Given the description of an element on the screen output the (x, y) to click on. 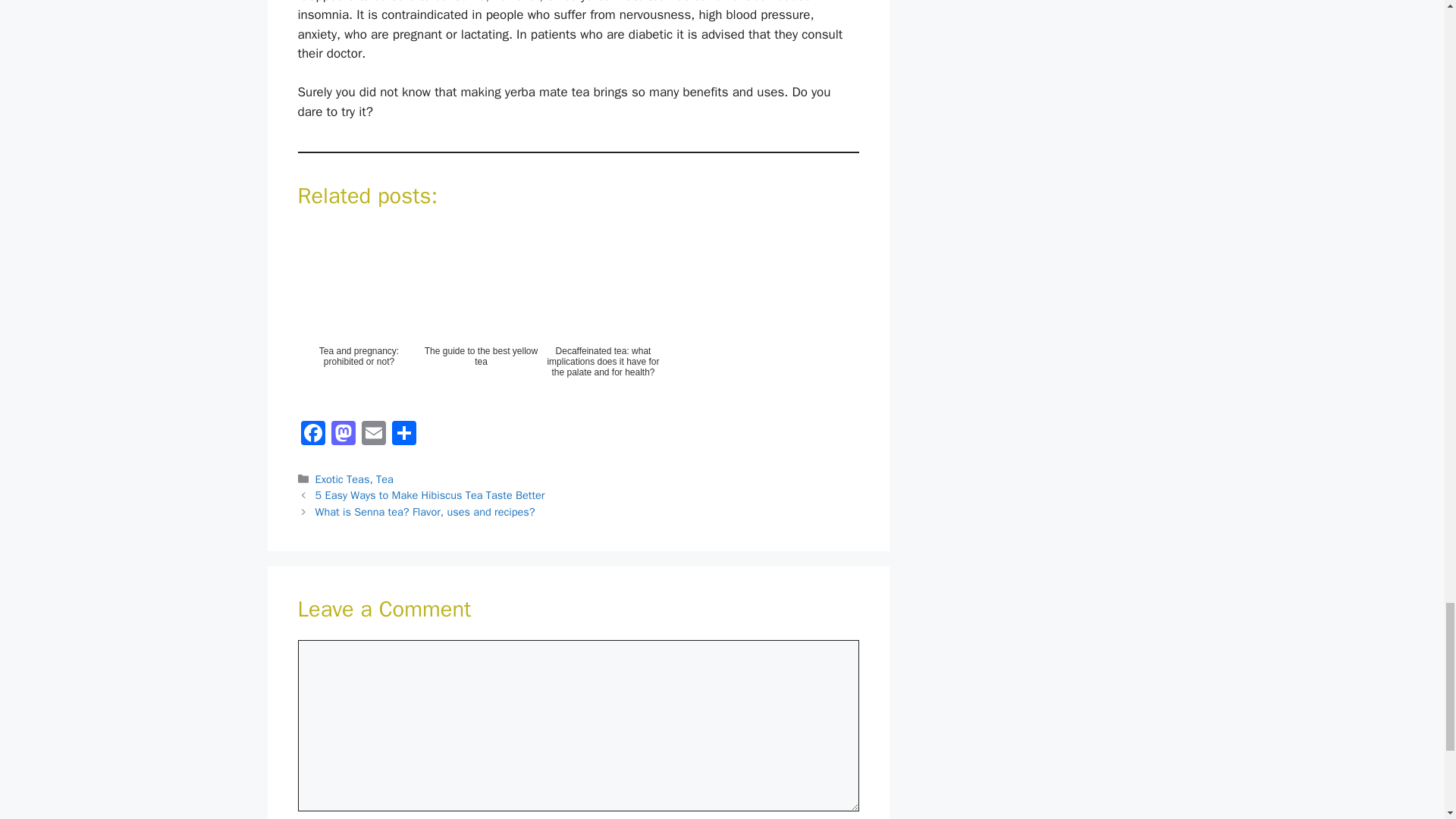
Exotic Teas (342, 479)
Email (373, 434)
Mastodon (342, 434)
Email (373, 434)
Share (403, 434)
Facebook (312, 434)
Facebook (312, 434)
5 Easy Ways to Make Hibiscus Tea Taste Better (429, 495)
Tea (384, 479)
Mastodon (342, 434)
